Given the description of an element on the screen output the (x, y) to click on. 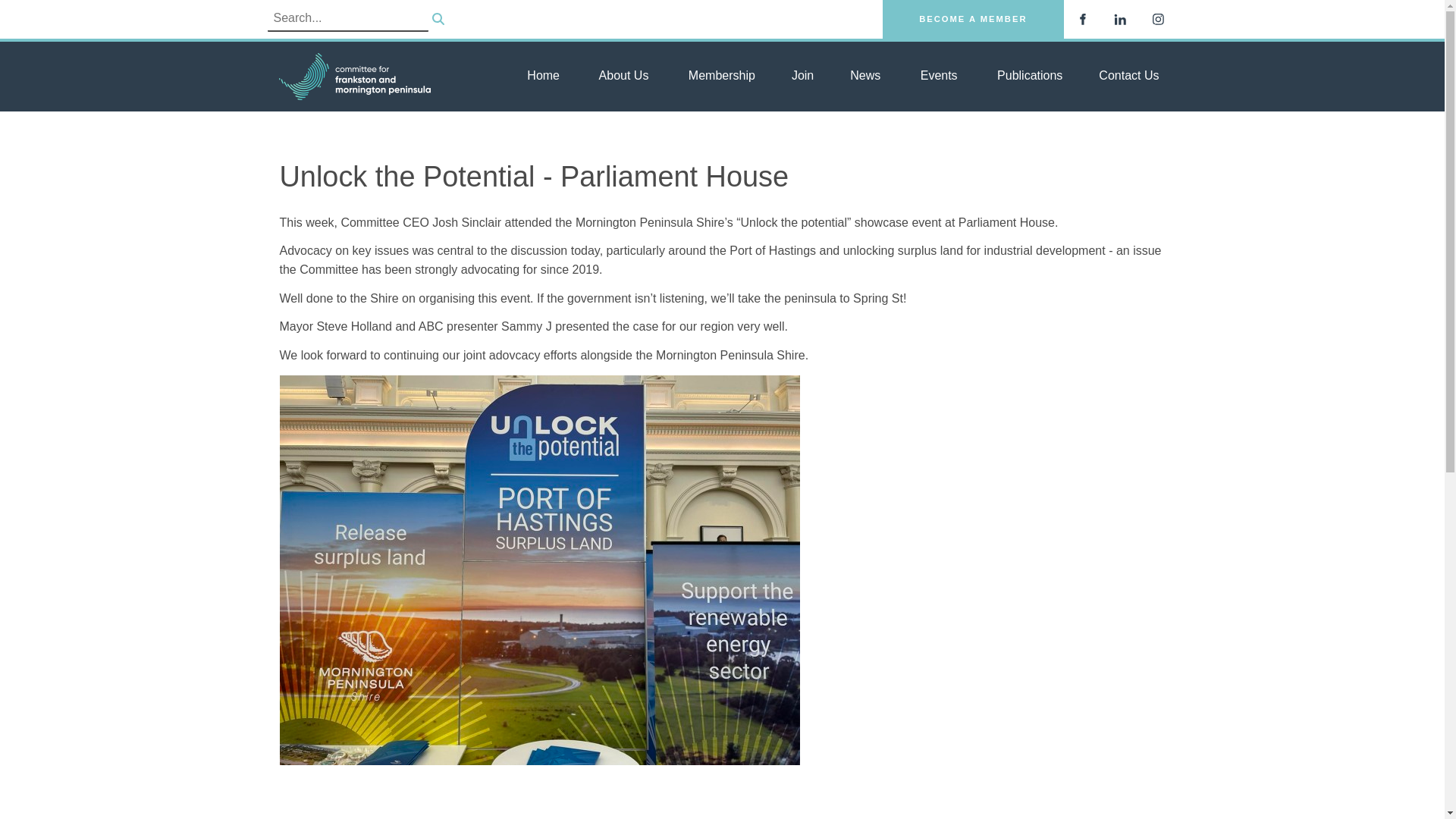
Membership (719, 75)
News (864, 75)
About Us (622, 75)
Home (543, 75)
Events (936, 75)
Facebook (1081, 18)
BECOME A MEMBER (972, 19)
Contact Us (1128, 75)
Join (802, 75)
Instagram (1157, 18)
LinkedIn (1119, 18)
Publications (1028, 75)
